Given the description of an element on the screen output the (x, y) to click on. 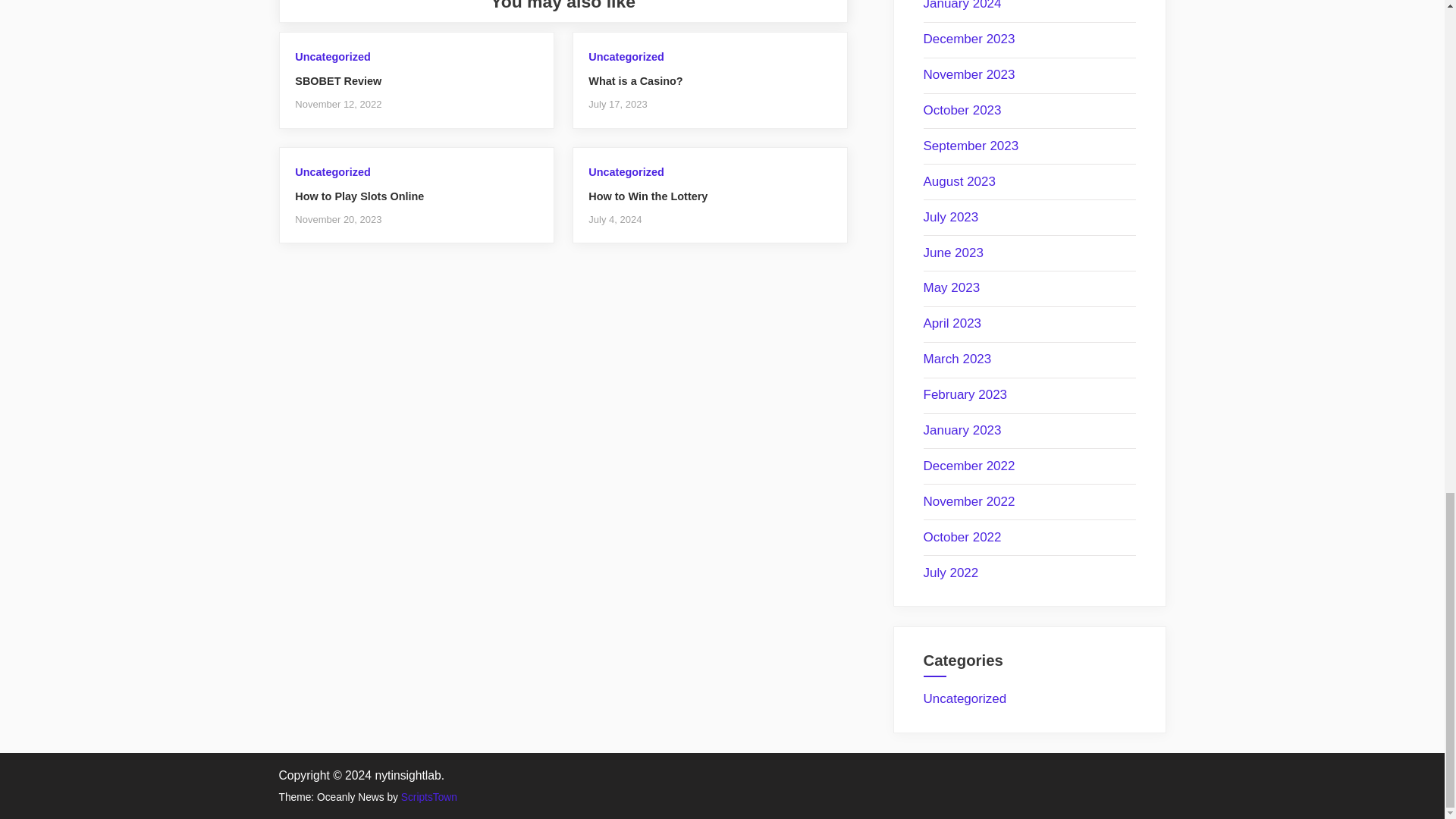
Uncategorized (332, 172)
What is a Casino? (635, 80)
How to Play Slots Online (359, 196)
Uncategorized (625, 172)
November 2023 (968, 74)
October 2023 (962, 110)
January 2024 (962, 5)
September 2023 (971, 145)
December 2023 (968, 38)
Uncategorized (625, 56)
